Given the description of an element on the screen output the (x, y) to click on. 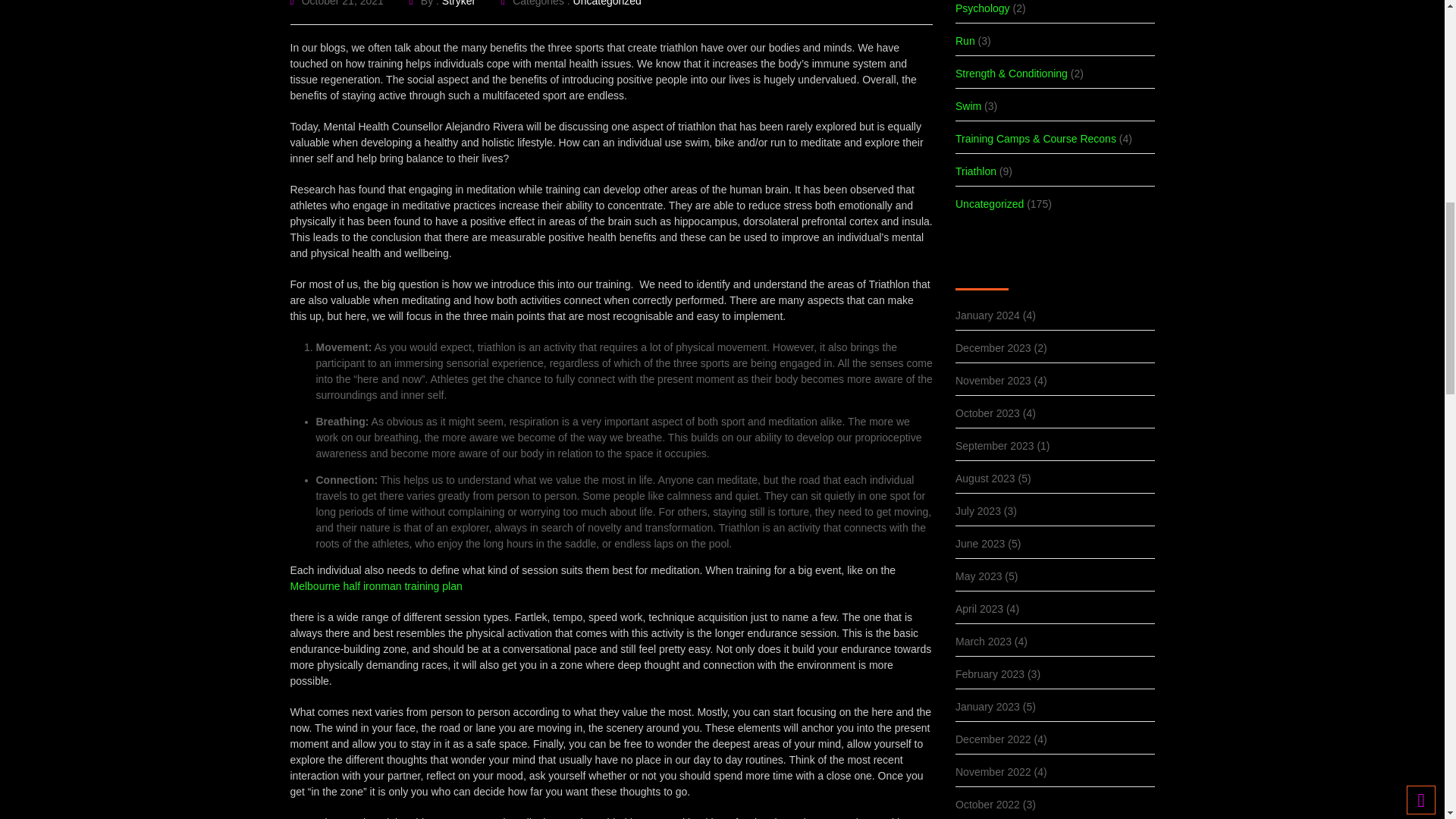
Stryker (459, 3)
Psychology (982, 11)
Posts by Stryker (459, 3)
Uncategorized (607, 3)
Melbourne half ironman training plan (375, 585)
